Given the description of an element on the screen output the (x, y) to click on. 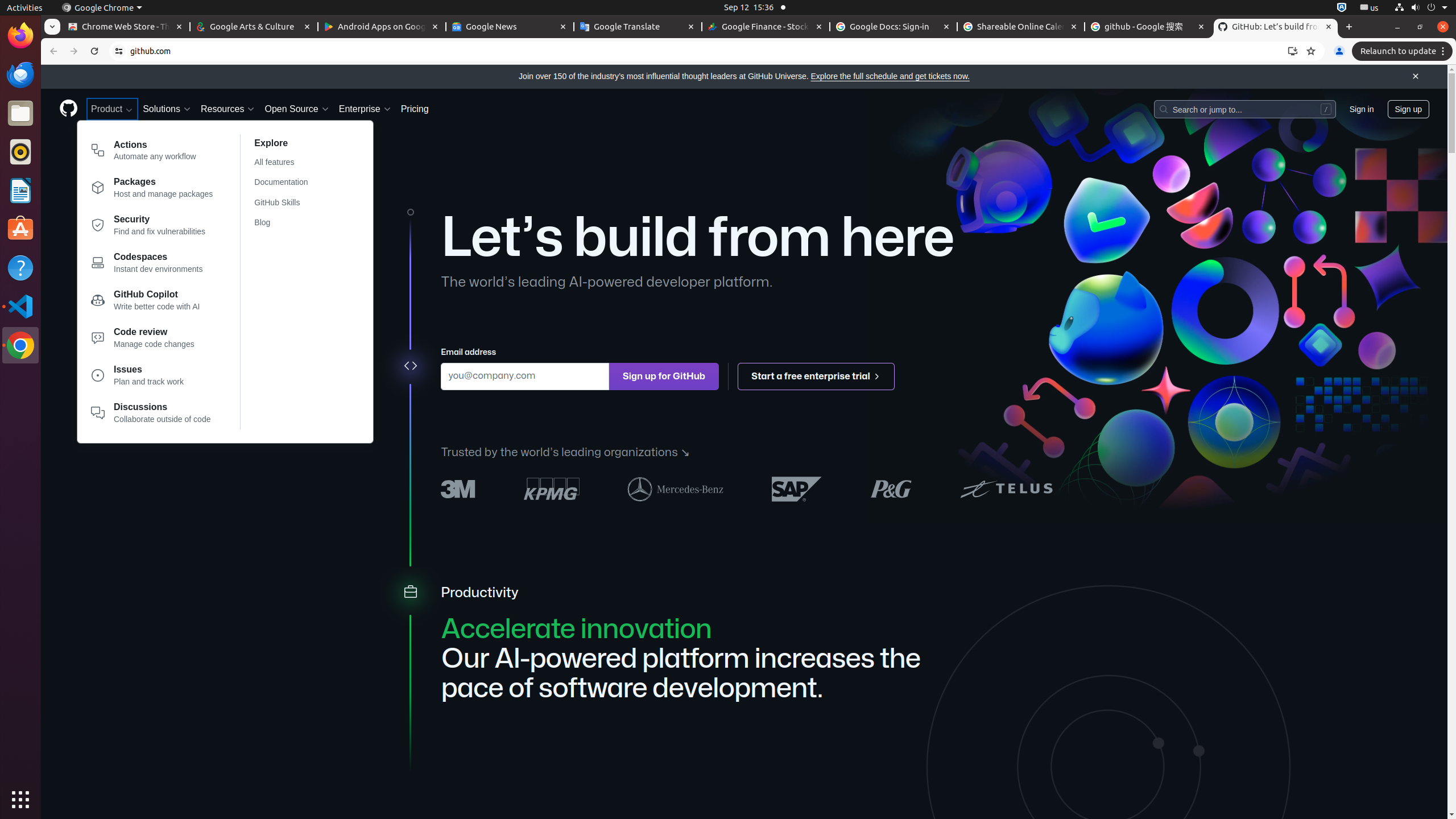
Google Arts & Culture - Memory usage - 60.0 MB Element type: page-tab (253, 26)
Install GitHub Element type: push-button (1292, 51)
Firefox Web Browser Element type: push-button (20, 35)
Actions Automate any workflow Element type: link (152, 152)
Rhythmbox Element type: push-button (20, 151)
